Given the description of an element on the screen output the (x, y) to click on. 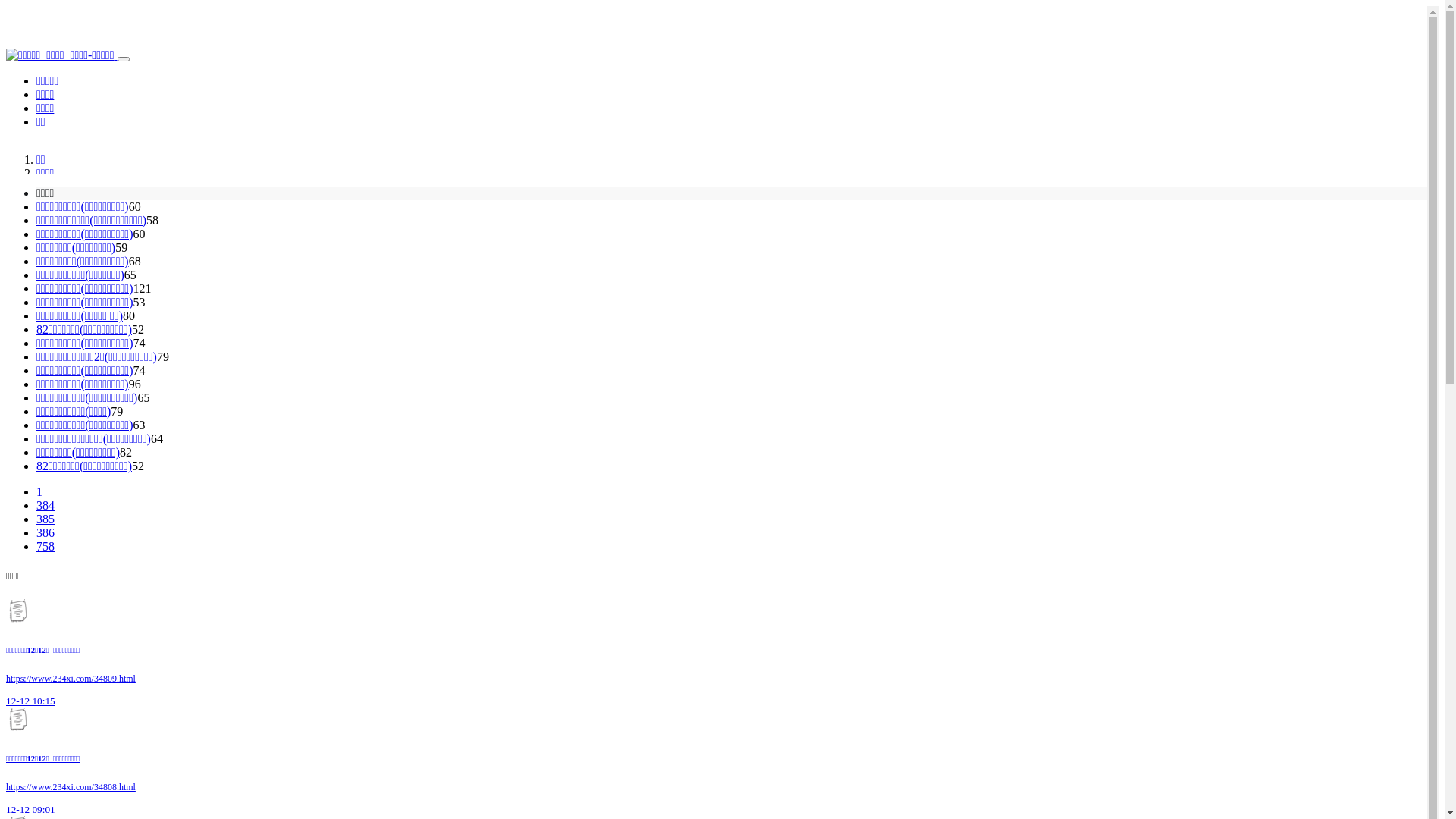
384 Element type: text (45, 504)
758 Element type: text (45, 545)
386 Element type: text (45, 532)
1 Element type: text (39, 491)
385 Element type: text (45, 518)
